Given the description of an element on the screen output the (x, y) to click on. 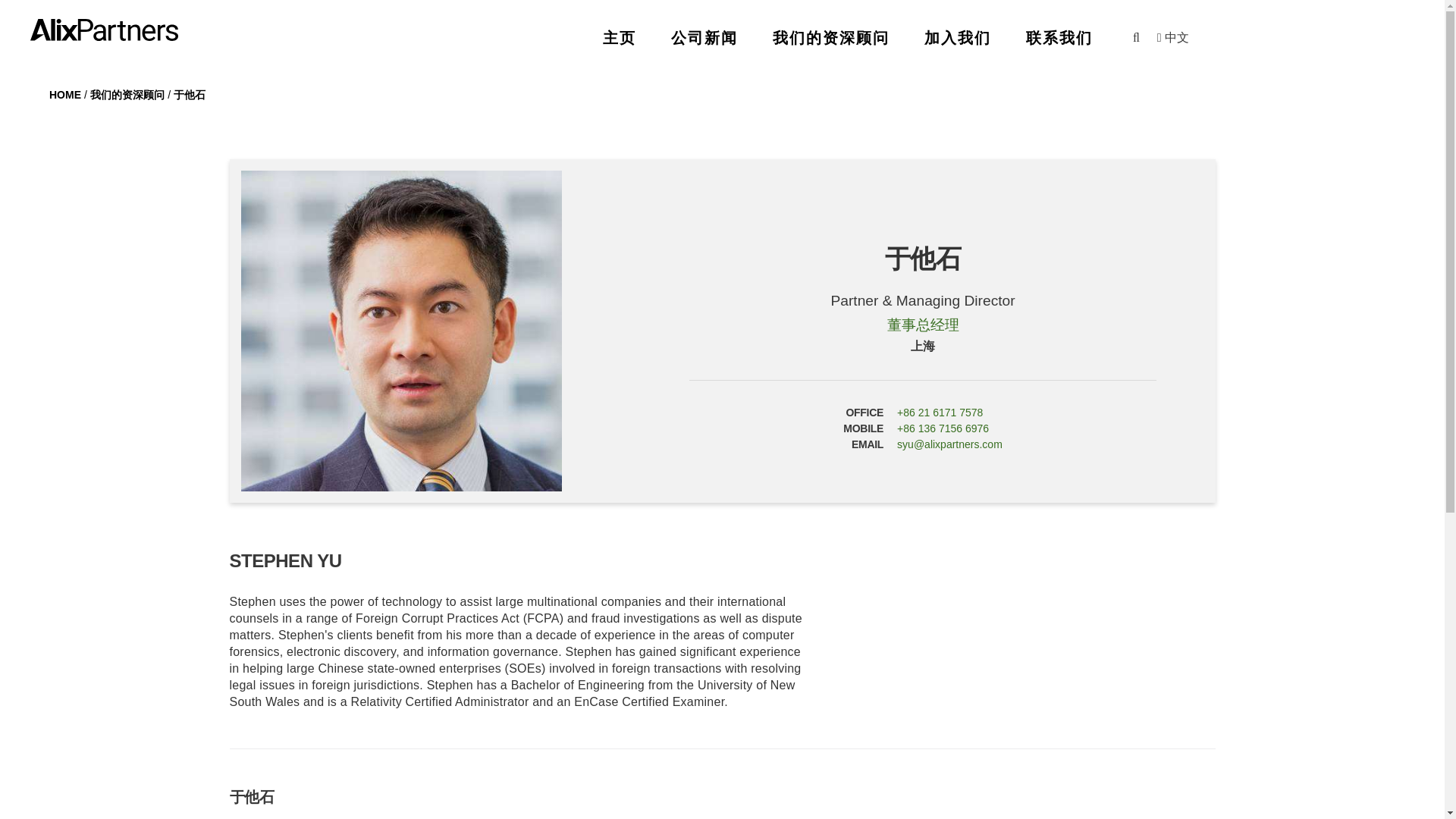
HOME (66, 94)
